Given the description of an element on the screen output the (x, y) to click on. 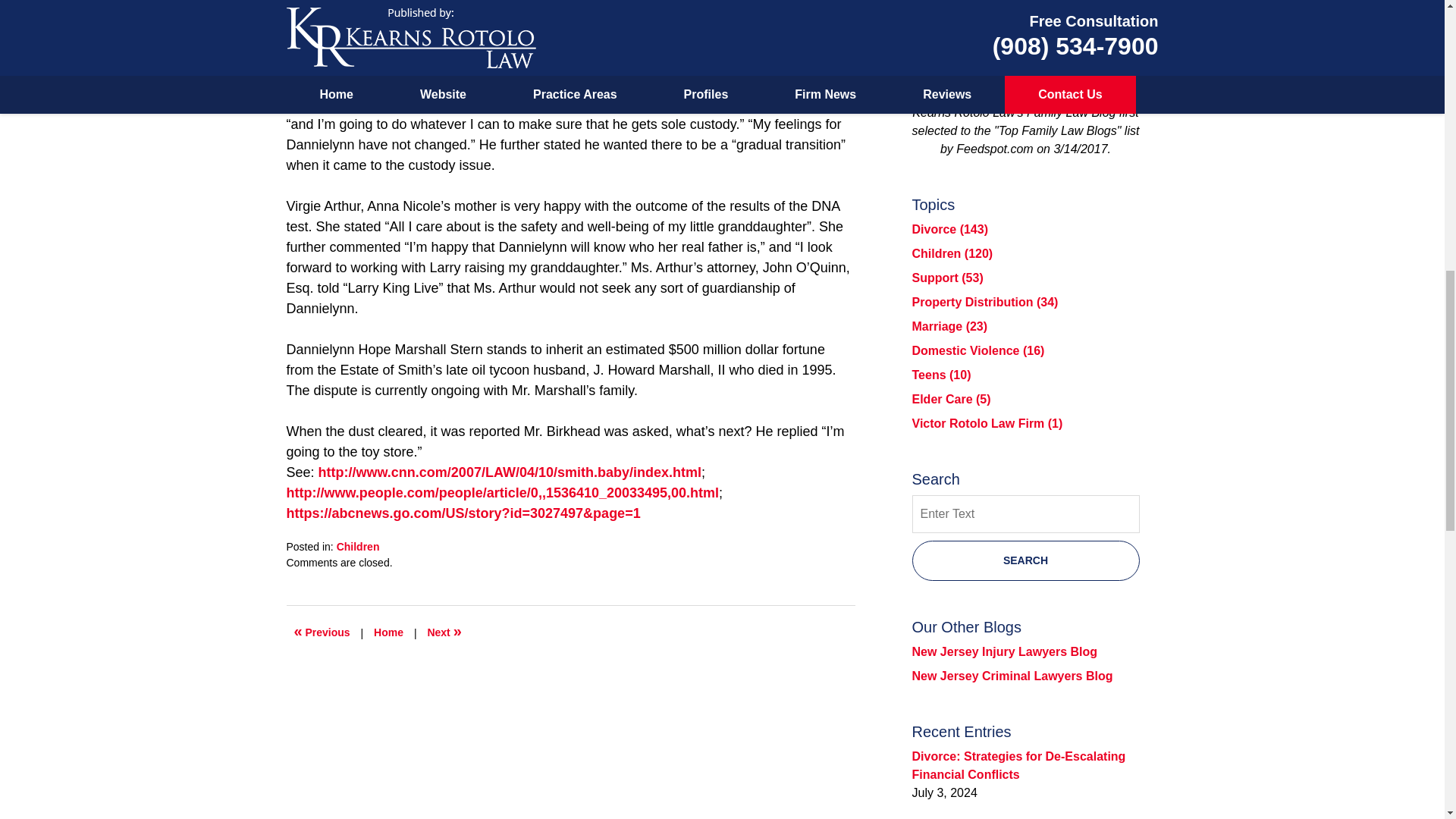
New Jersey Child Support: Who Pays? (322, 633)
New Jersey: Equitable Distribution of Disability Pension (443, 633)
View all posts in Children (358, 546)
Children (358, 546)
Home (388, 633)
